Given the description of an element on the screen output the (x, y) to click on. 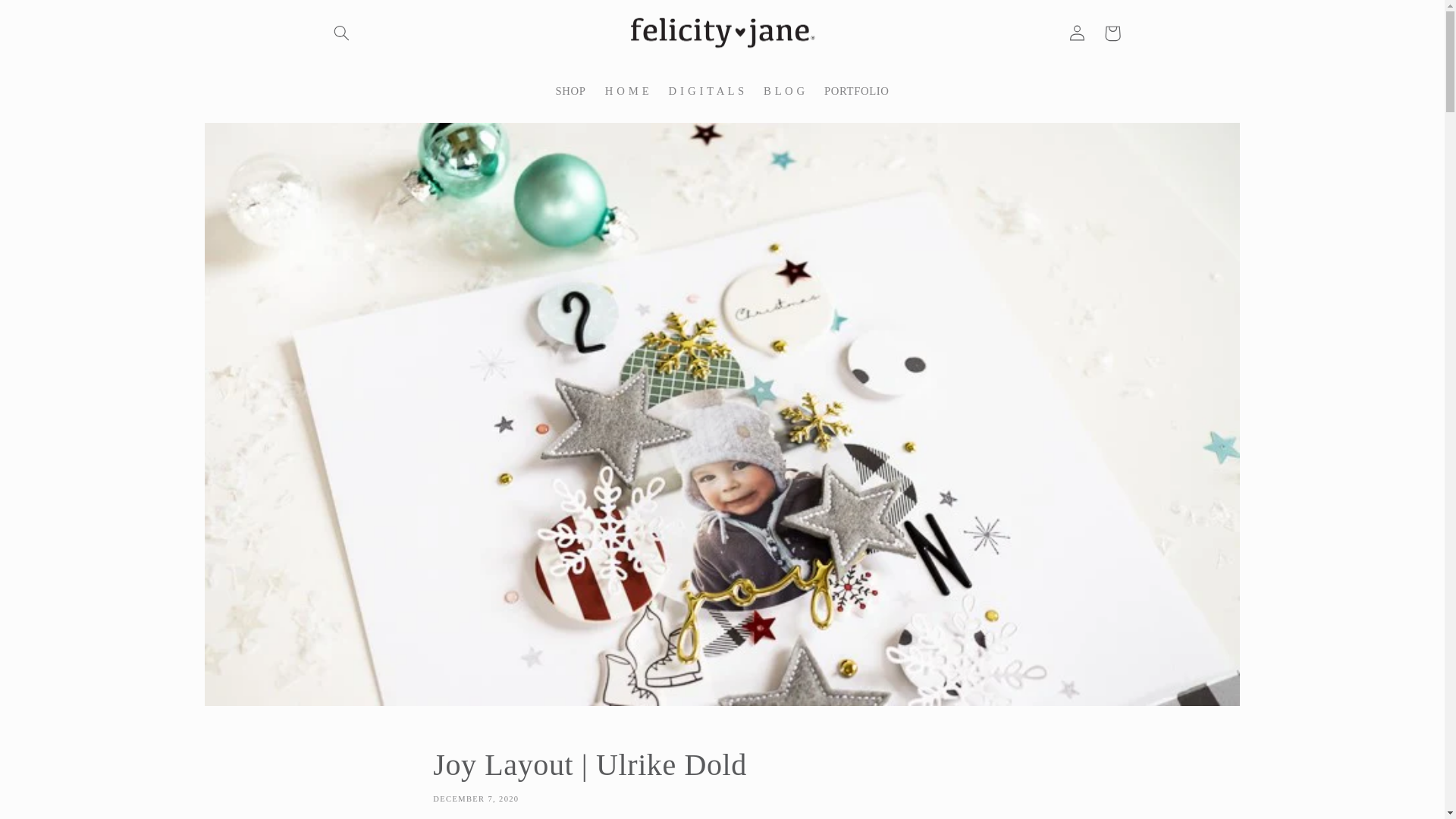
Log in (1076, 32)
SHOP (570, 90)
PORTFOLIO (855, 90)
Cart (1111, 32)
D I G I T A L S (706, 90)
Skip to content (48, 18)
H O M E (627, 90)
B L O G (783, 90)
